Given the description of an element on the screen output the (x, y) to click on. 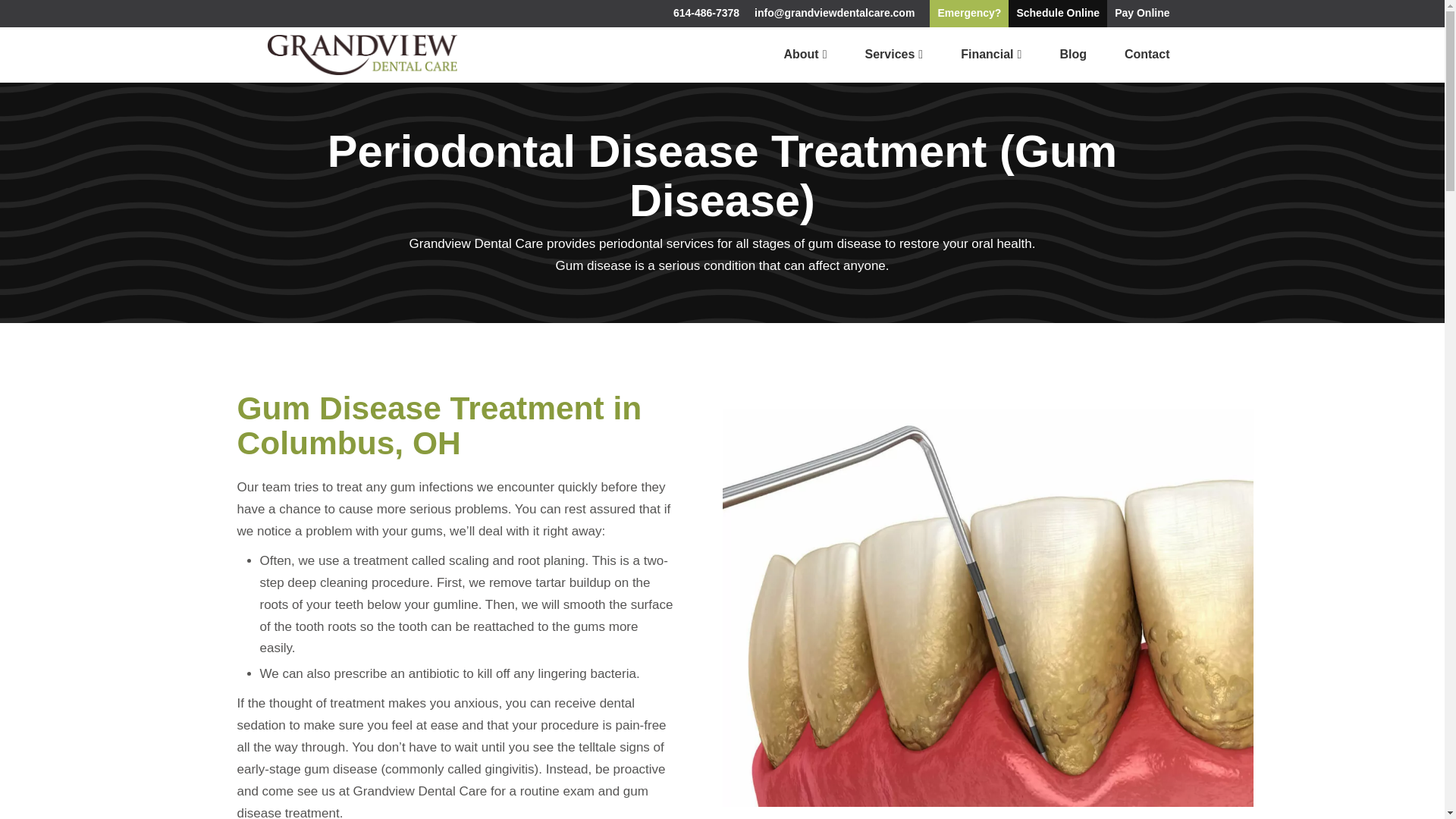
About (805, 54)
Pay Online (1141, 13)
Emergency? (969, 13)
Financial (991, 54)
Contact (1146, 54)
Services (893, 54)
614-486-7378 (705, 13)
Schedule Online (1057, 13)
Blog (1072, 54)
